Given the description of an element on the screen output the (x, y) to click on. 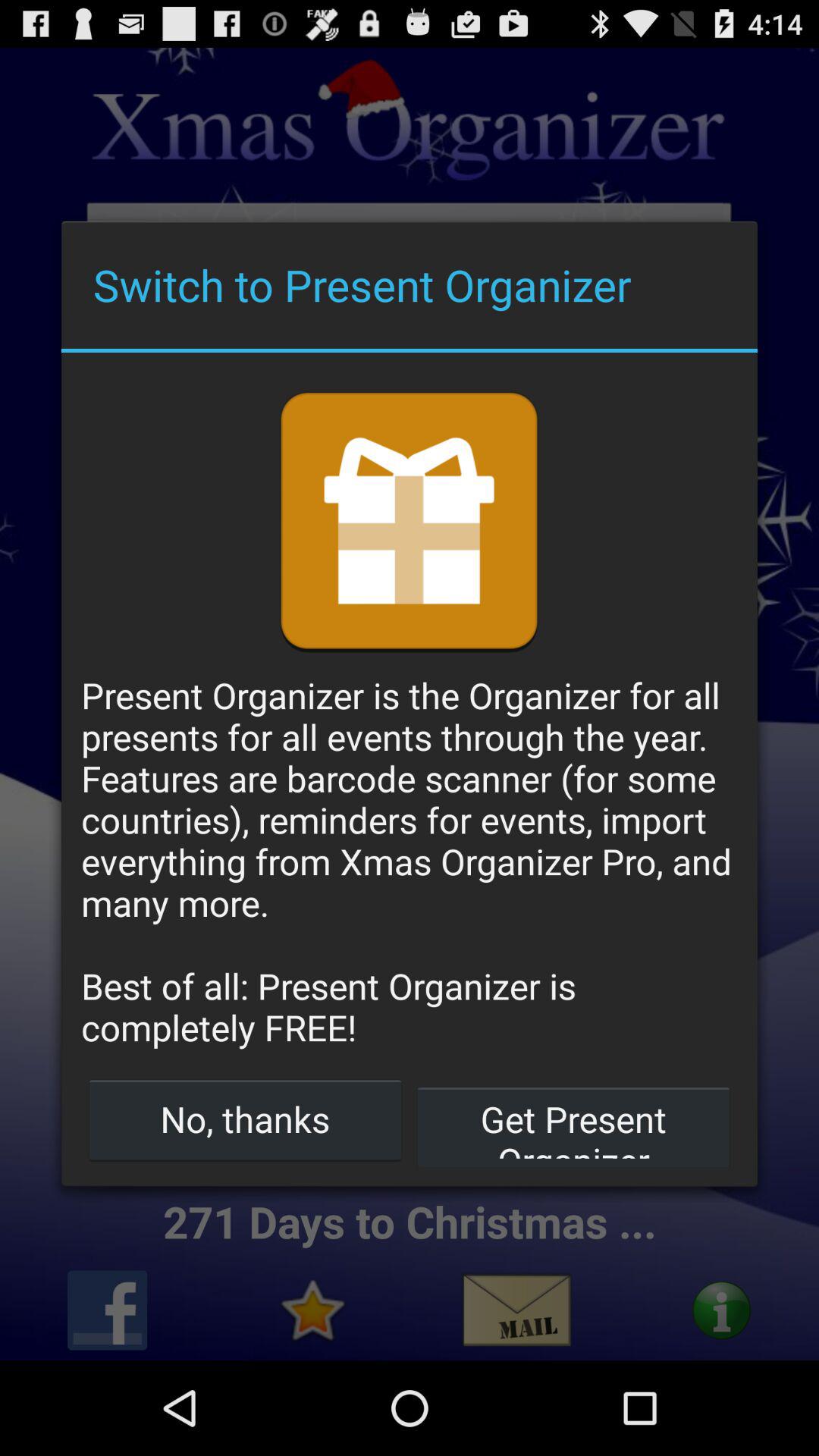
open the item below present organizer is item (245, 1119)
